Given the description of an element on the screen output the (x, y) to click on. 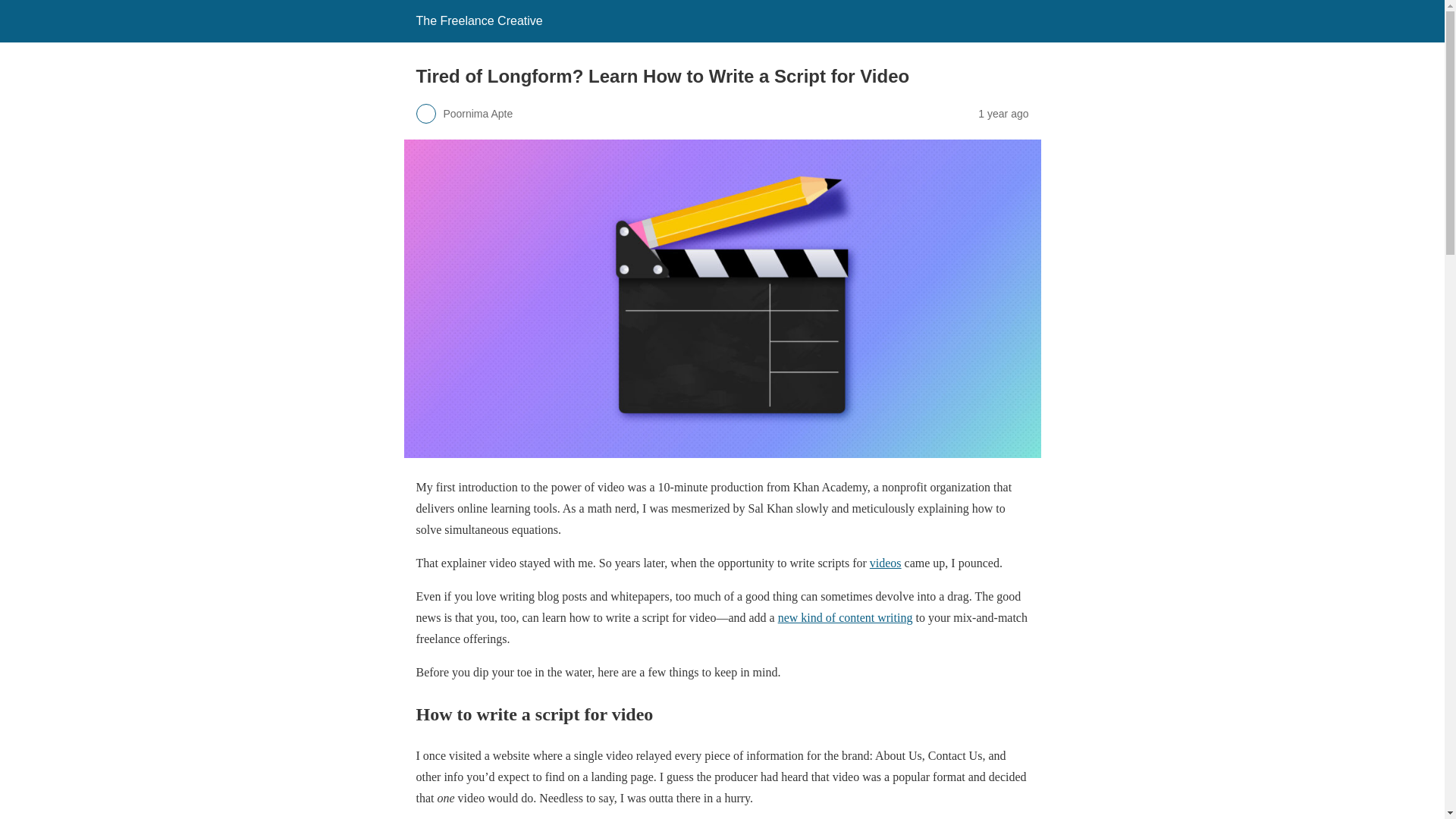
The Freelance Creative (477, 20)
videos (885, 562)
new kind of content writing (844, 617)
